Given the description of an element on the screen output the (x, y) to click on. 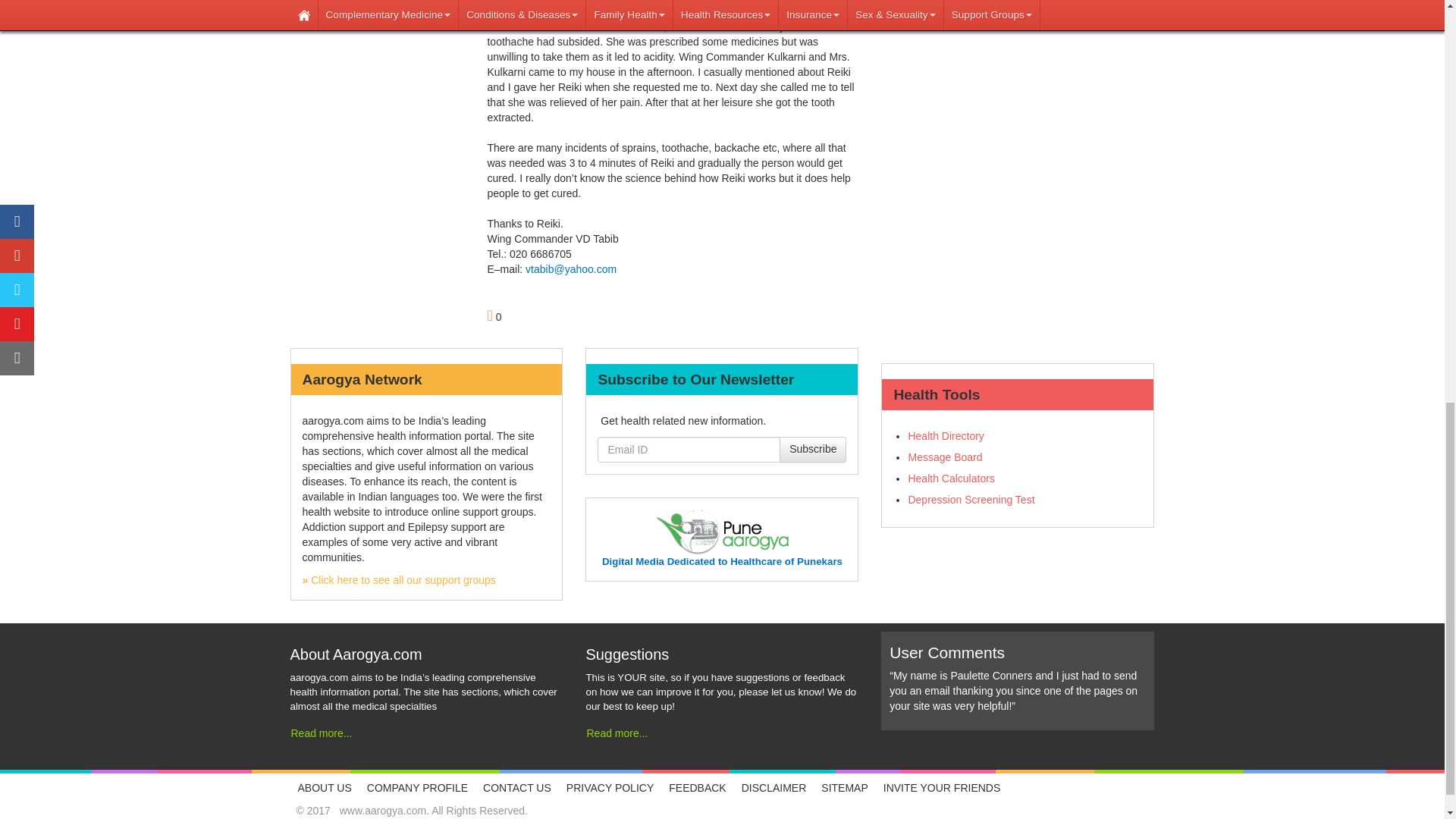
Advertisement (1017, 48)
Aarogya Network (398, 580)
Pune Aarogya (722, 561)
Pune Aarogya (722, 531)
